Given the description of an element on the screen output the (x, y) to click on. 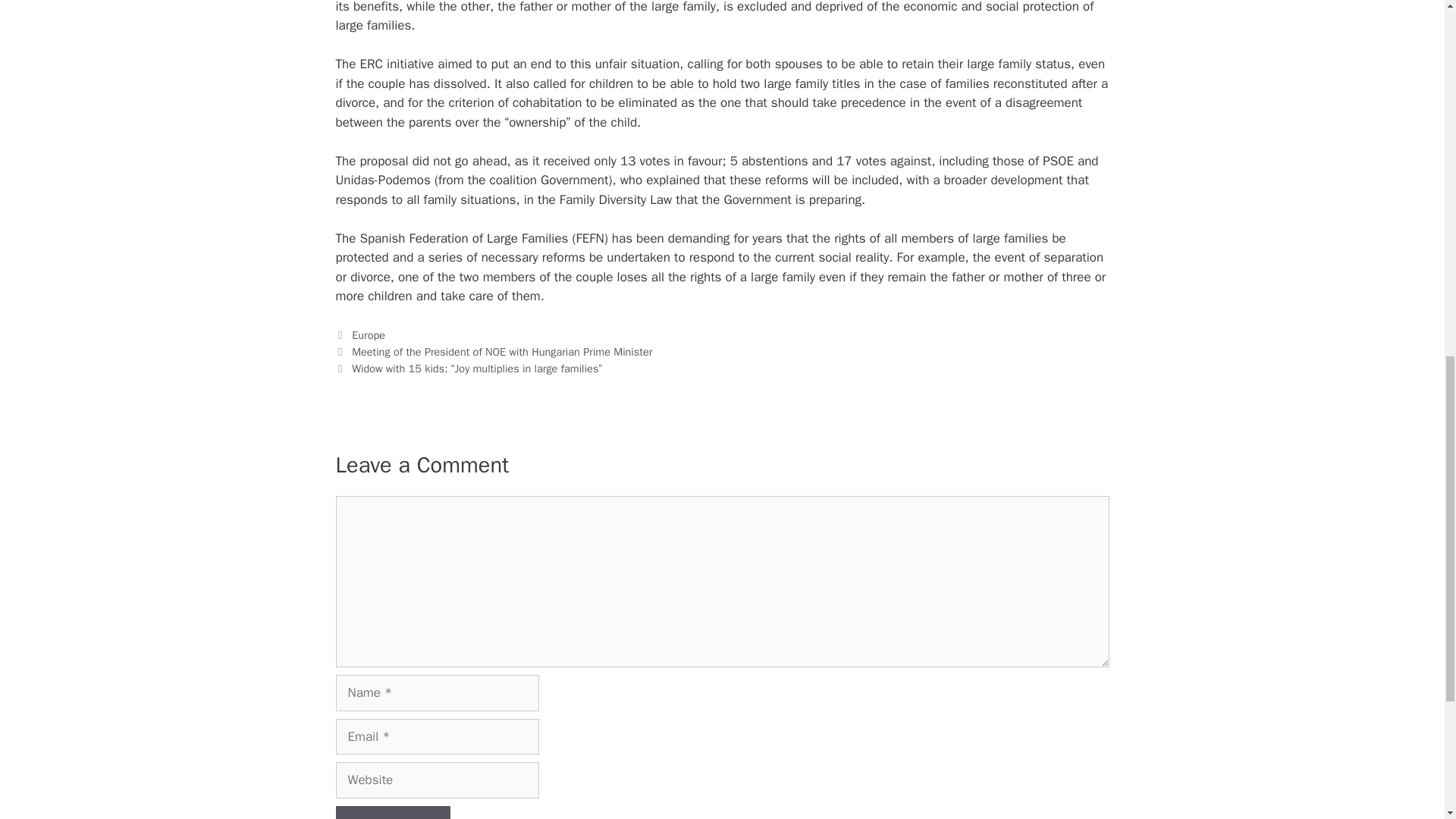
Post Comment (391, 812)
